Given the description of an element on the screen output the (x, y) to click on. 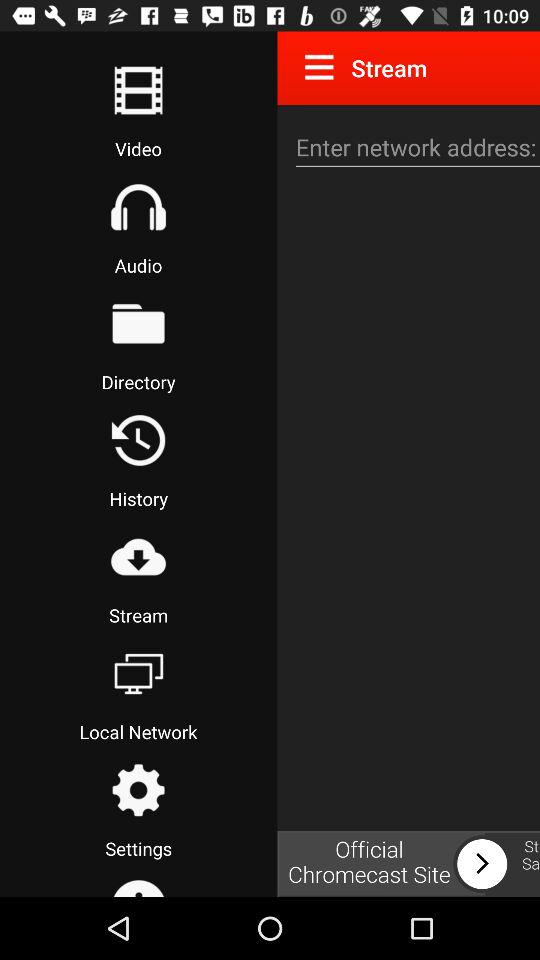
headphones button is for audio (138, 207)
